Given the description of an element on the screen output the (x, y) to click on. 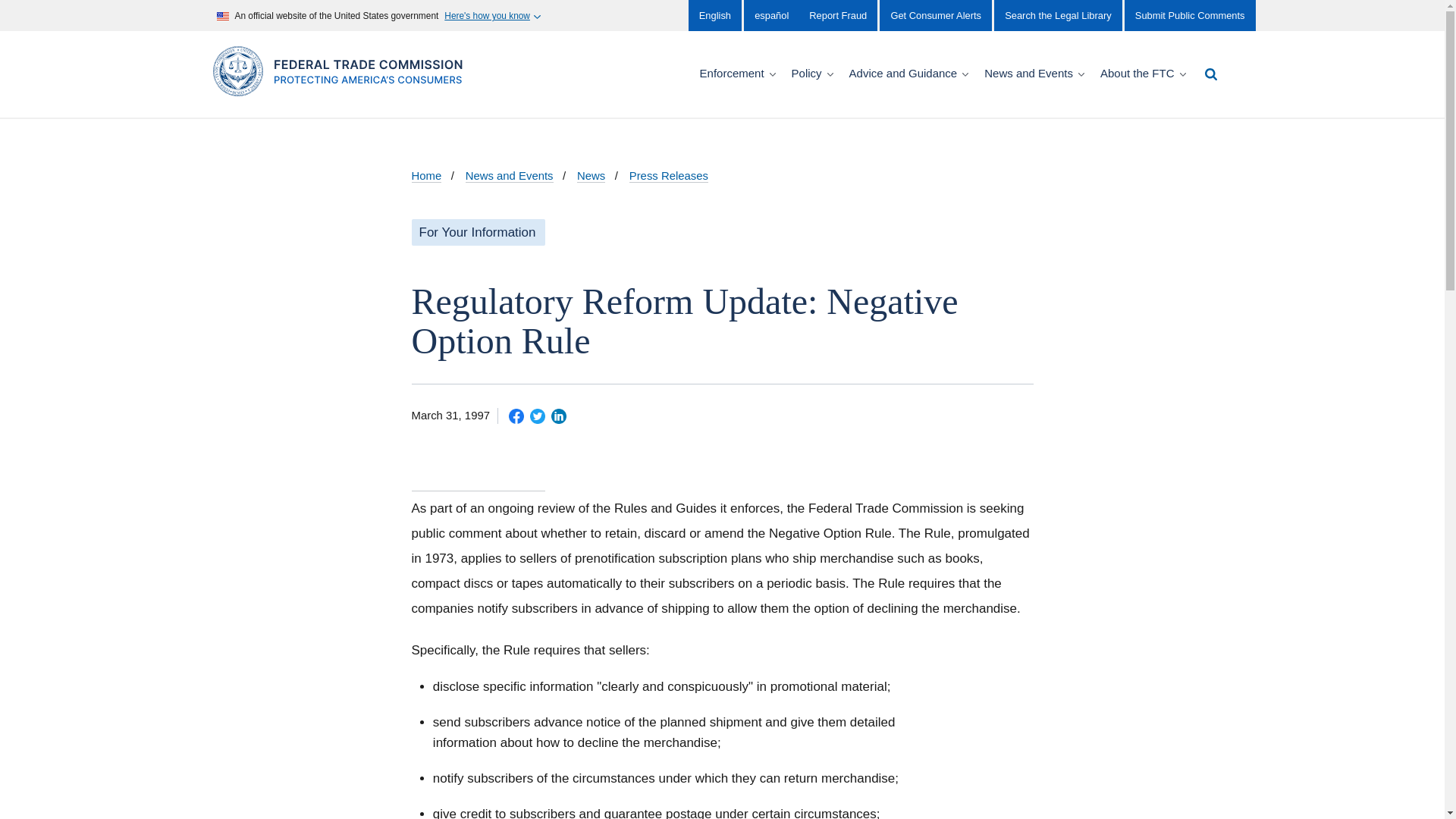
Home (343, 87)
About the FTC (1144, 73)
News (590, 175)
Search the Legal Library (1057, 15)
Home (425, 175)
Report Fraud (837, 15)
Press Releases (667, 175)
News and Events (1035, 73)
English (714, 15)
Submit Public Comments (1189, 15)
Get Consumer Alerts (935, 15)
Enforcement (739, 73)
Advice and Guidance (910, 73)
Here's how you know (492, 15)
Policy (814, 73)
